Given the description of an element on the screen output the (x, y) to click on. 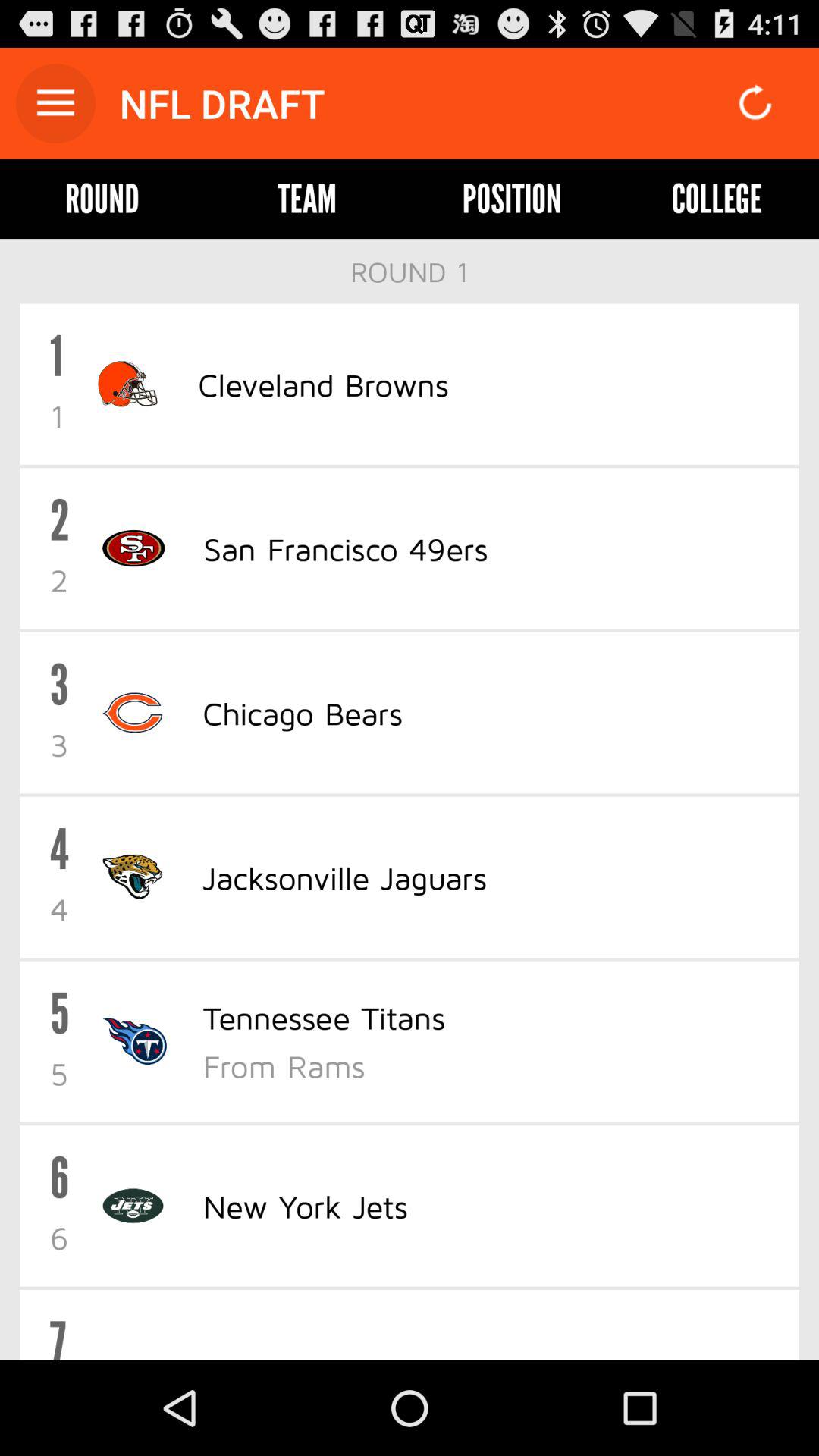
turn on the icon above the 1 icon (409, 271)
